Given the description of an element on the screen output the (x, y) to click on. 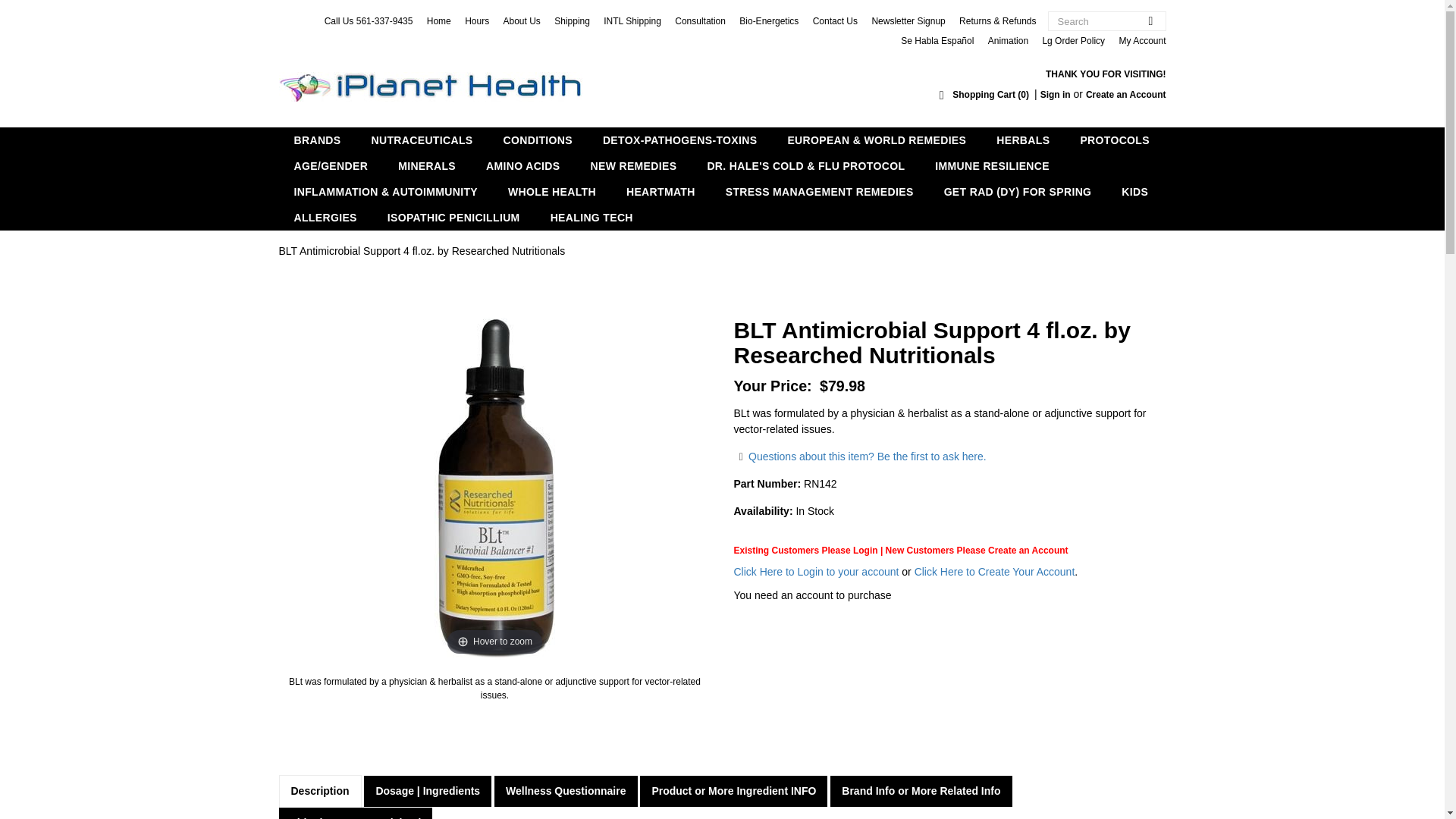
About Us (521, 20)
NEW REMEDIES (633, 166)
Create an Account (1126, 94)
Consultation (700, 20)
INTL Shipping (632, 20)
Bio-Energetics (768, 20)
Sign in (1055, 94)
PROTOCOLS (1114, 140)
My Account (1142, 40)
Shipping (571, 20)
Lg Order Policy (1073, 40)
561-337-9435 (384, 20)
WHOLE HEALTH (552, 191)
Contact Us (834, 20)
AMINO ACIDS (522, 166)
